Given the description of an element on the screen output the (x, y) to click on. 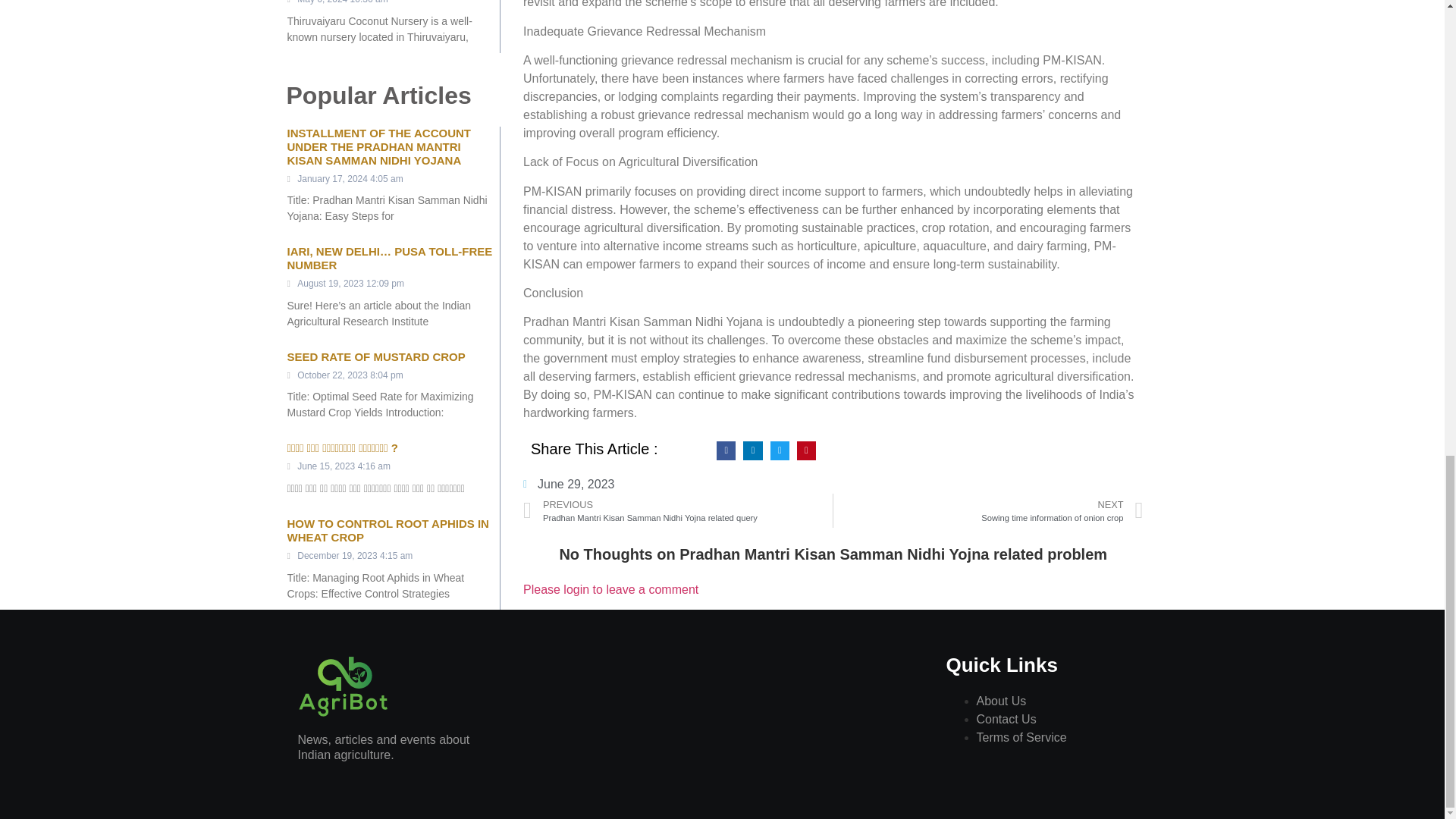
About Us (1001, 700)
HOW TO CONTROL ROOT APHIDS IN WHEAT CROP (386, 529)
Please login to leave a comment (610, 589)
Terms of Service (987, 510)
Contact Us (1021, 737)
June 29, 2023 (1006, 718)
SEED RATE OF MUSTARD CROP (568, 484)
